Given the description of an element on the screen output the (x, y) to click on. 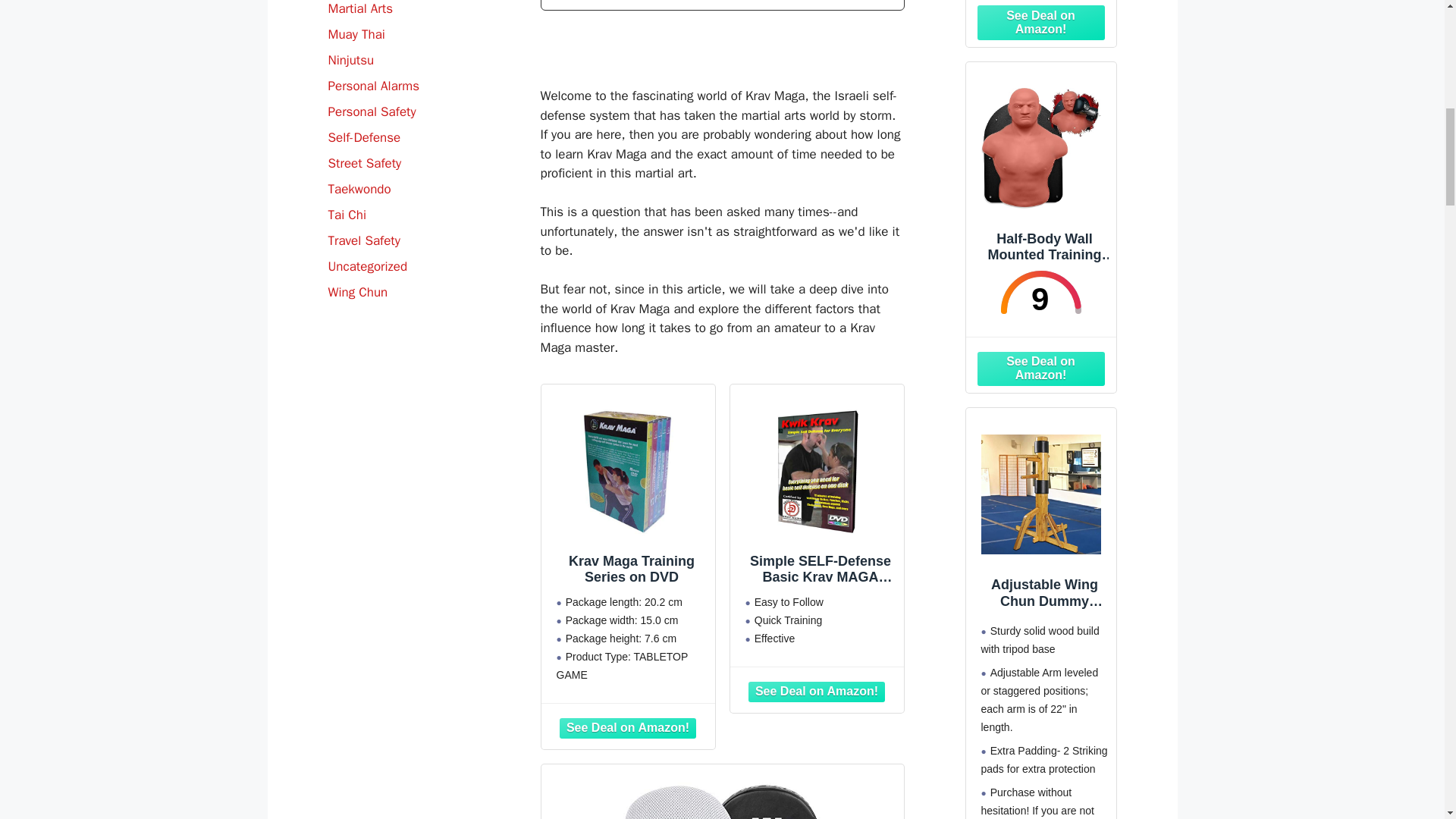
9 (1040, 292)
